Given the description of an element on the screen output the (x, y) to click on. 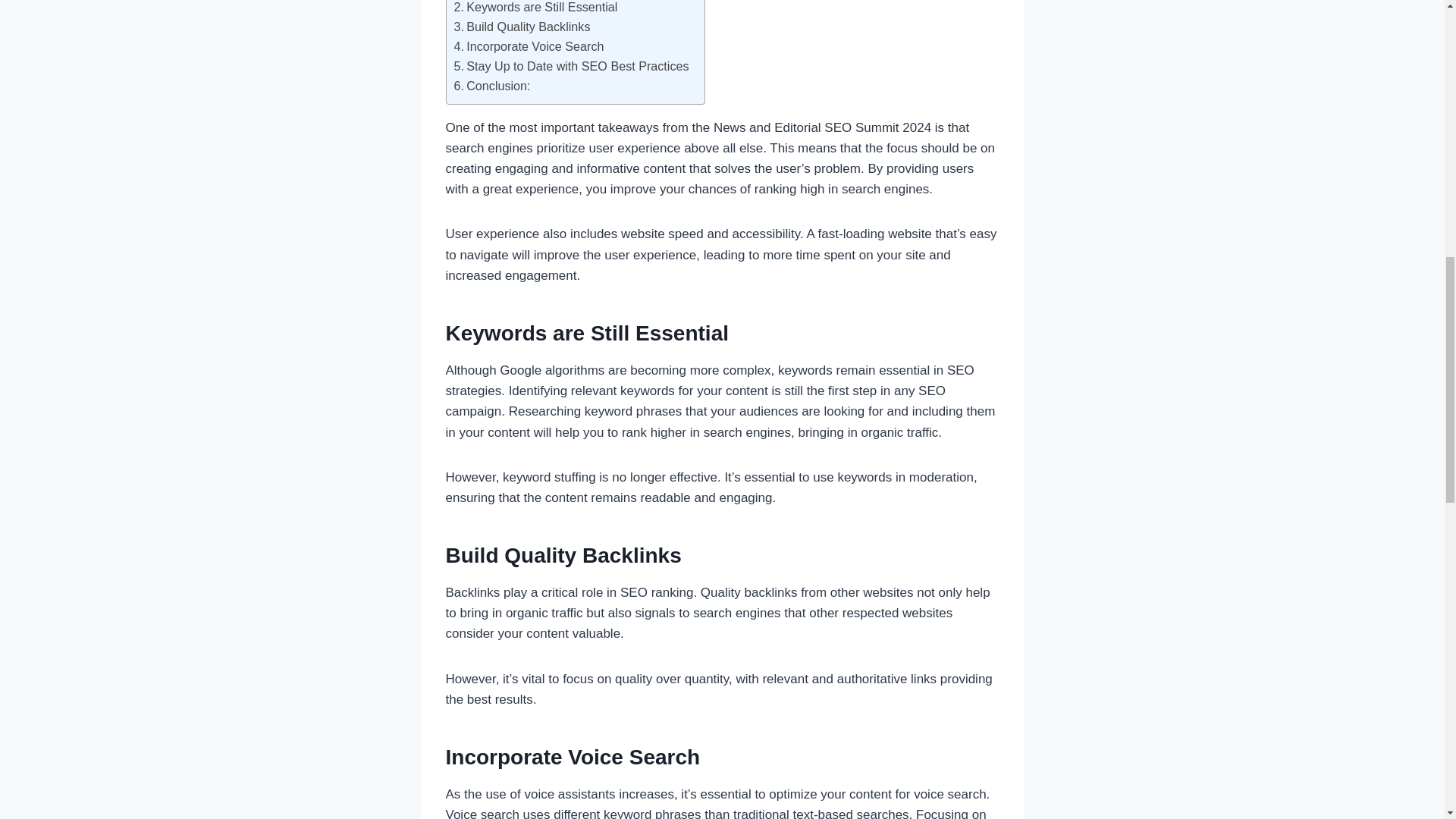
Stay Up to Date with SEO Best Practices (570, 66)
Incorporate Voice Search (528, 46)
Stay Up to Date with SEO Best Practices (570, 66)
Conclusion: (490, 86)
Incorporate Voice Search (528, 46)
Keywords are Still Essential (534, 8)
Build Quality Backlinks (520, 26)
Conclusion: (490, 86)
Keywords are Still Essential (534, 8)
Build Quality Backlinks (520, 26)
